Given the description of an element on the screen output the (x, y) to click on. 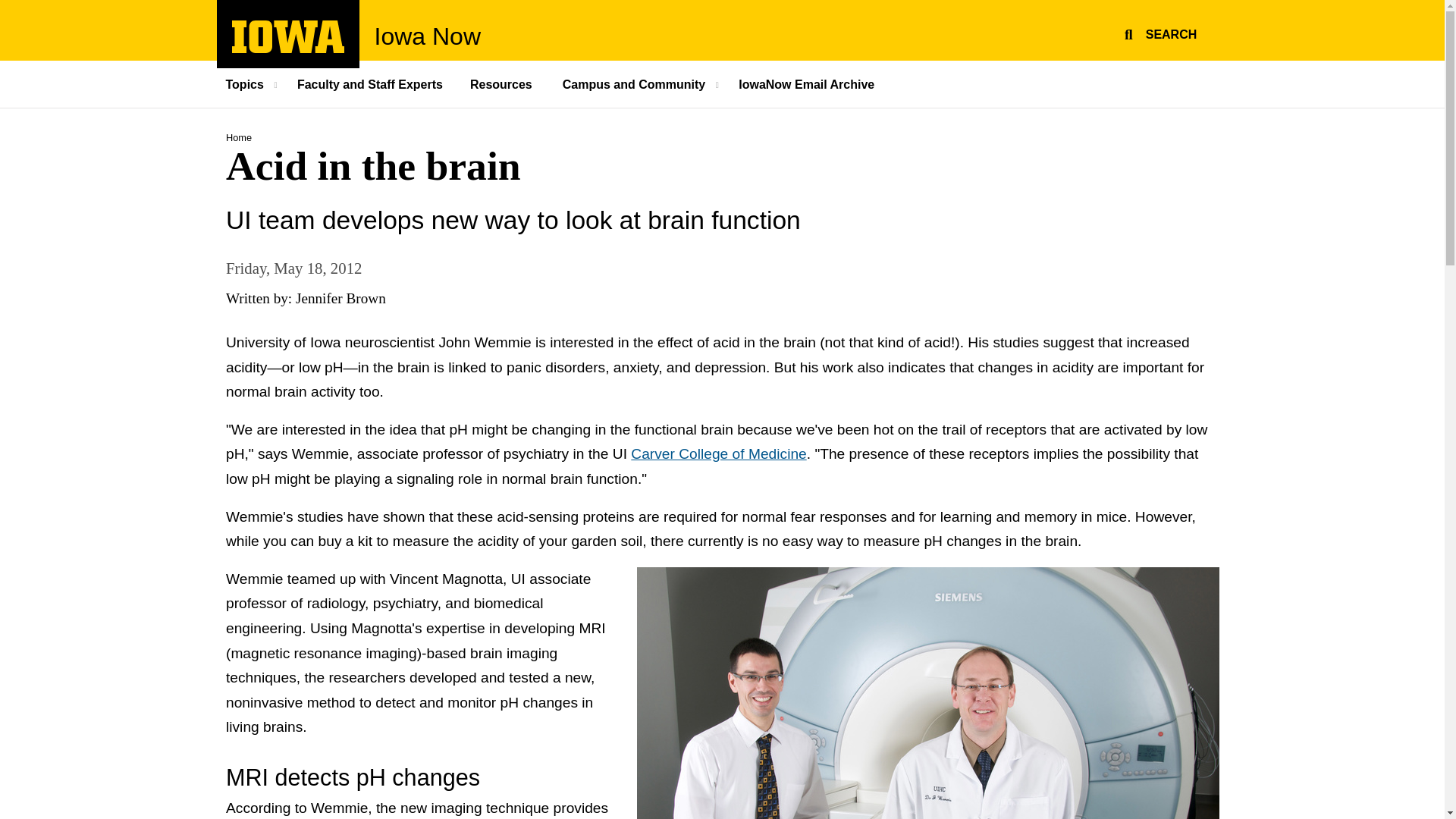
Home (238, 137)
Carver College of Medicine (718, 453)
IowaNow Email Archive (806, 83)
SEARCH (1157, 32)
Iowa Now (427, 36)
Skip to main content (7, 7)
Faculty and Staff Experts (370, 83)
University of Iowa (288, 48)
